Given the description of an element on the screen output the (x, y) to click on. 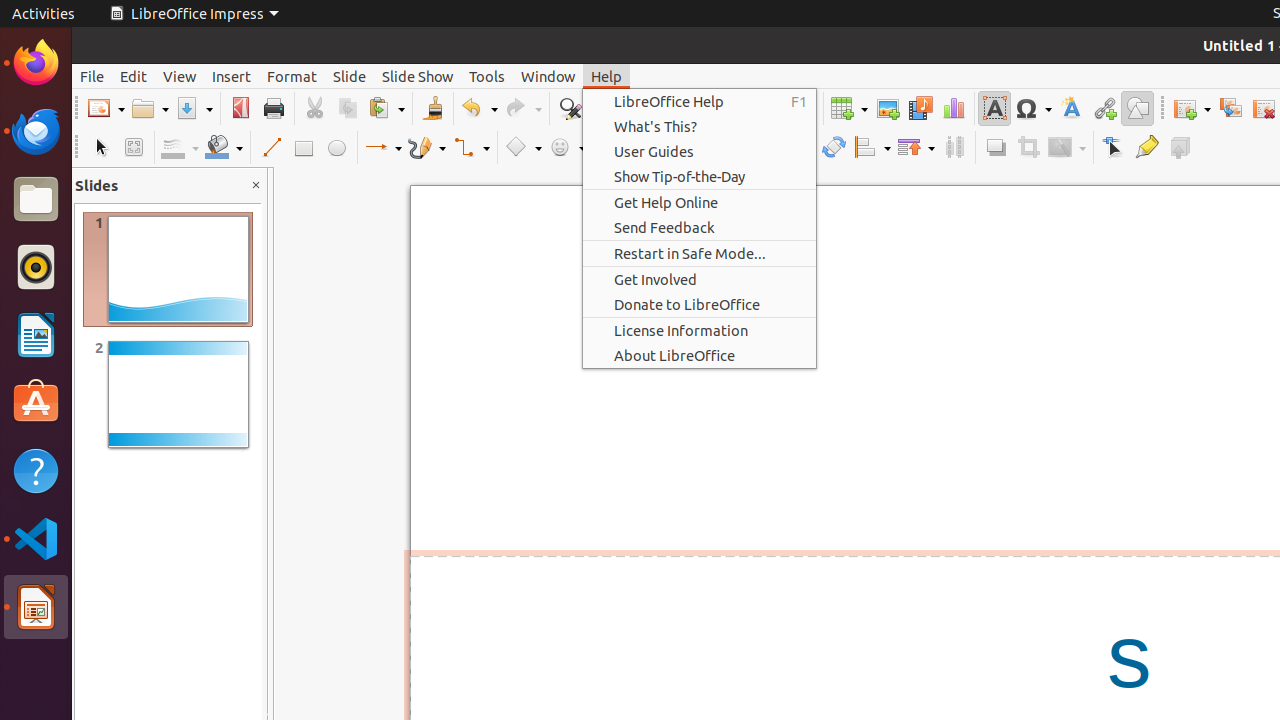
Window Element type: menu (548, 76)
Restart in Safe Mode... Element type: menu-item (699, 253)
File Element type: menu (92, 76)
